Given the description of an element on the screen output the (x, y) to click on. 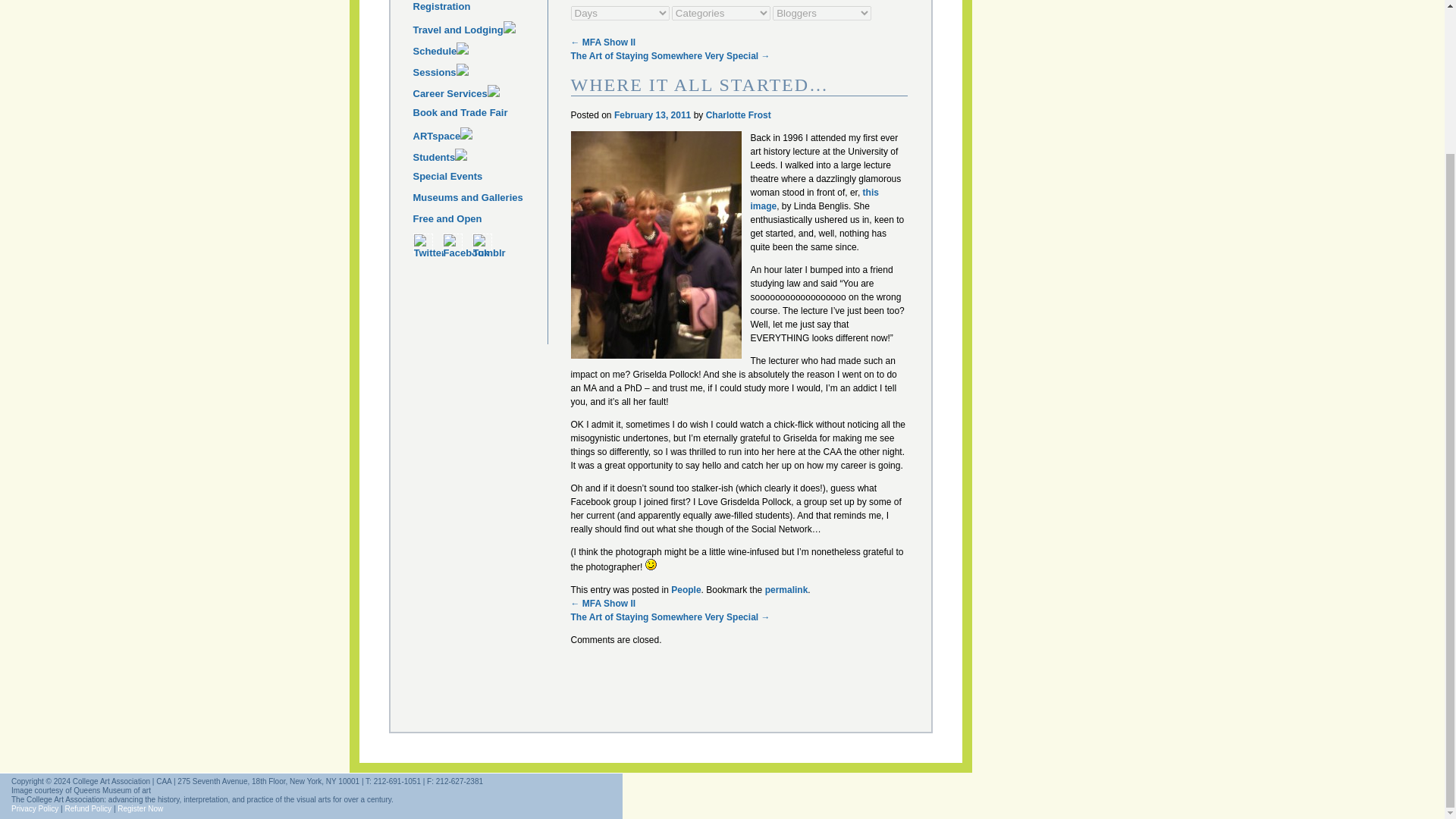
Book and Trade Fair (479, 74)
DSCN1217 (655, 244)
Registration (479, 10)
View all posts in People (685, 589)
8:41 PM (652, 114)
View all posts by Charlotte Frost (738, 114)
Special Events (479, 158)
Free and Open (479, 222)
Museums and Galleries (479, 201)
